Given the description of an element on the screen output the (x, y) to click on. 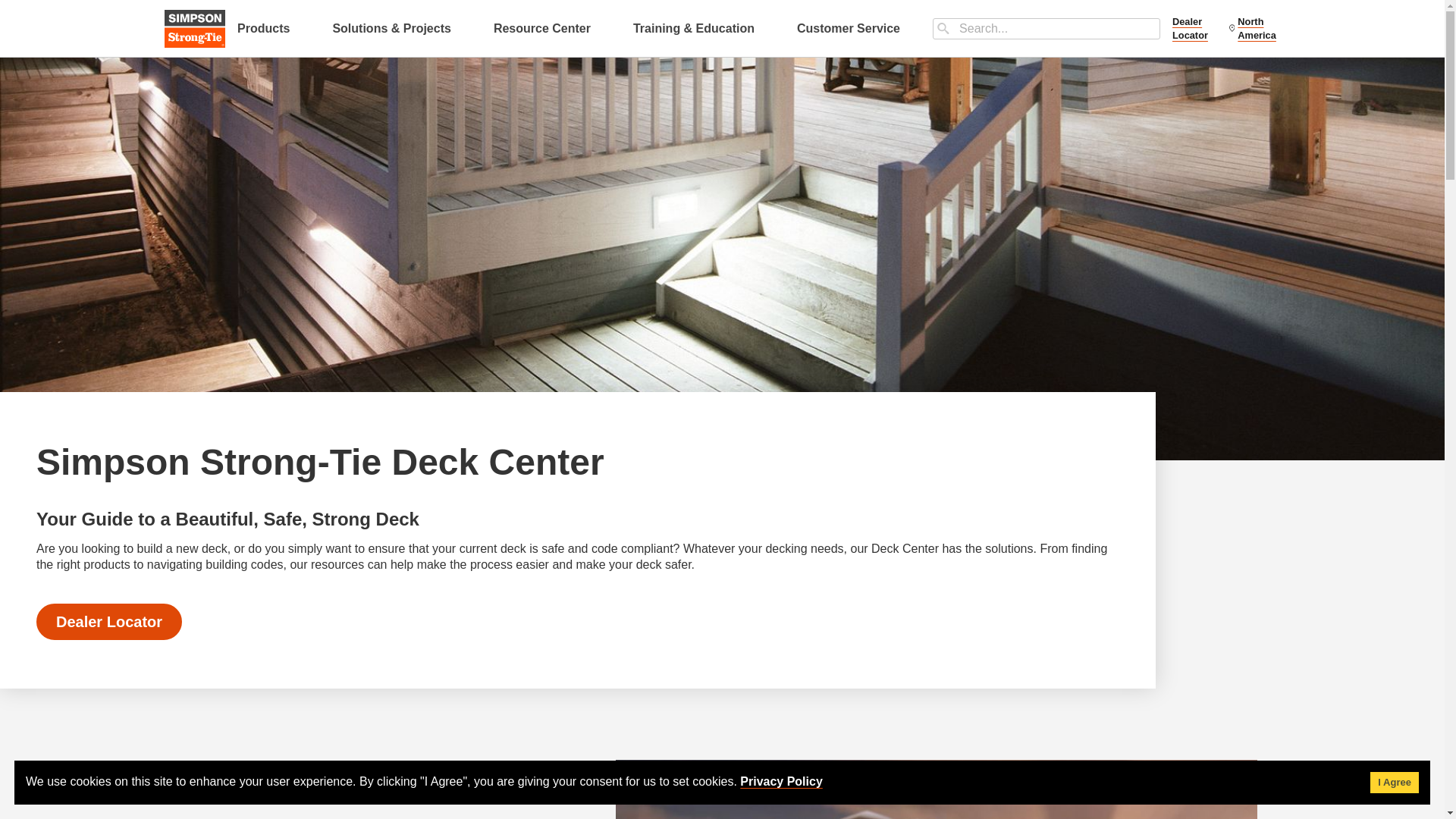
Dealer Locator (1194, 28)
North America (1254, 28)
Products (263, 28)
